Given the description of an element on the screen output the (x, y) to click on. 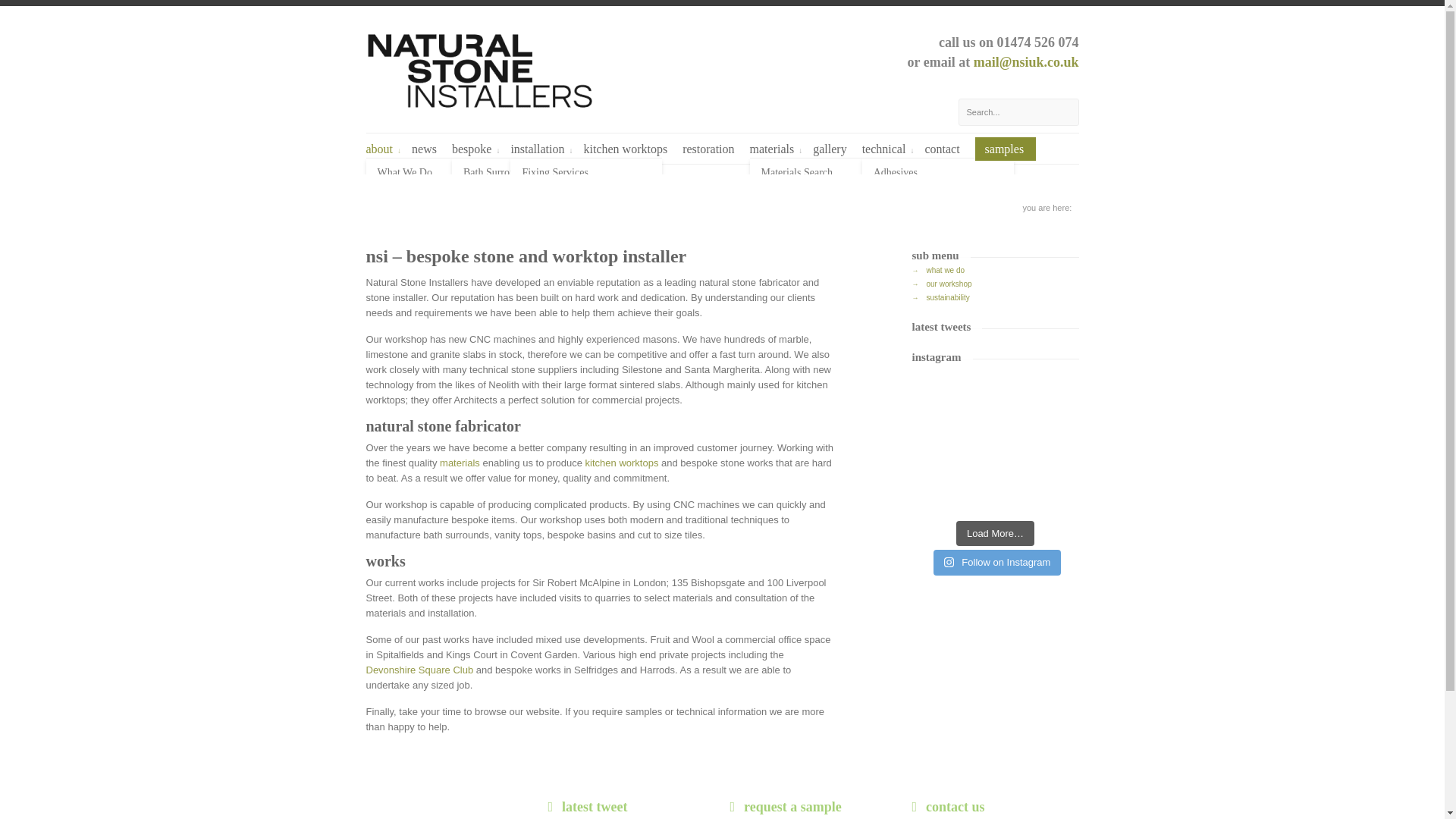
Wetrooms (938, 332)
Fixing Services (585, 172)
bespoke (475, 150)
kitchen worktops (627, 150)
Sample Basket (825, 194)
materials (776, 150)
materials (459, 462)
about (383, 150)
Custom Cut Bespoke Flooring (527, 201)
Slip Resistance (938, 265)
